Given the description of an element on the screen output the (x, y) to click on. 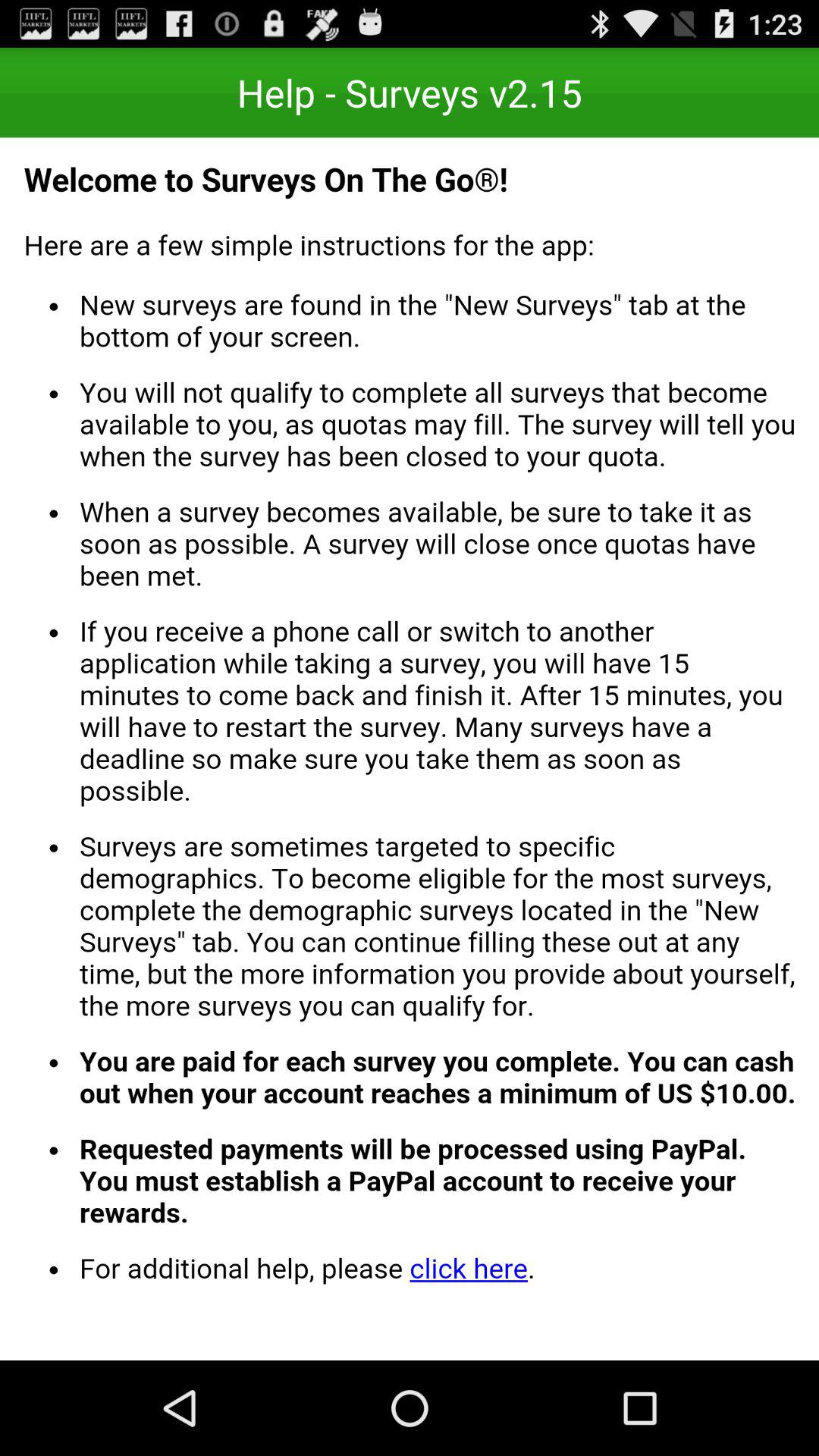
welcome page (409, 748)
